Given the description of an element on the screen output the (x, y) to click on. 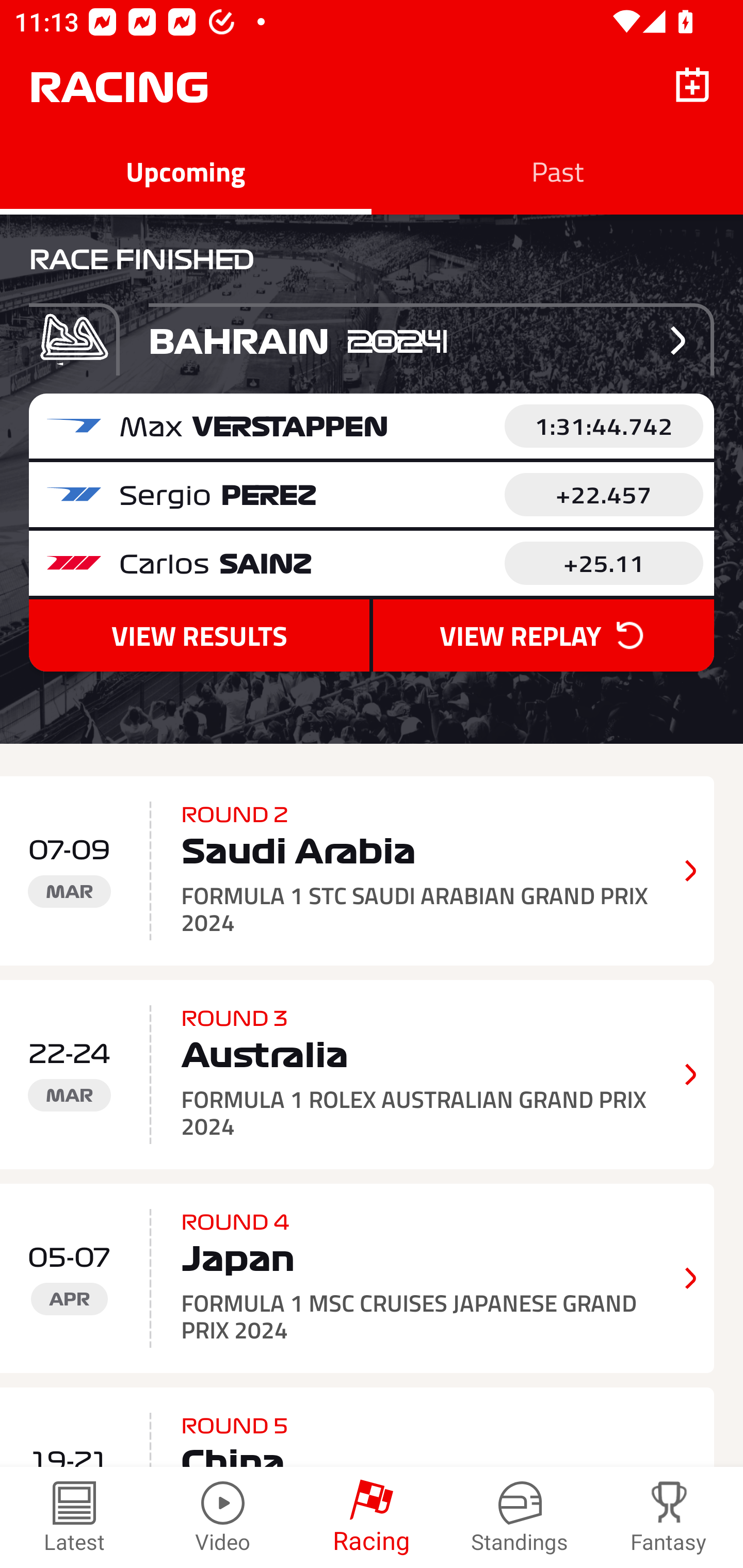
Past (557, 171)
VIEW RESULTS (198, 634)
VIEW REPLAY (543, 634)
Latest (74, 1517)
Video (222, 1517)
Standings (519, 1517)
Fantasy (668, 1517)
